Given the description of an element on the screen output the (x, y) to click on. 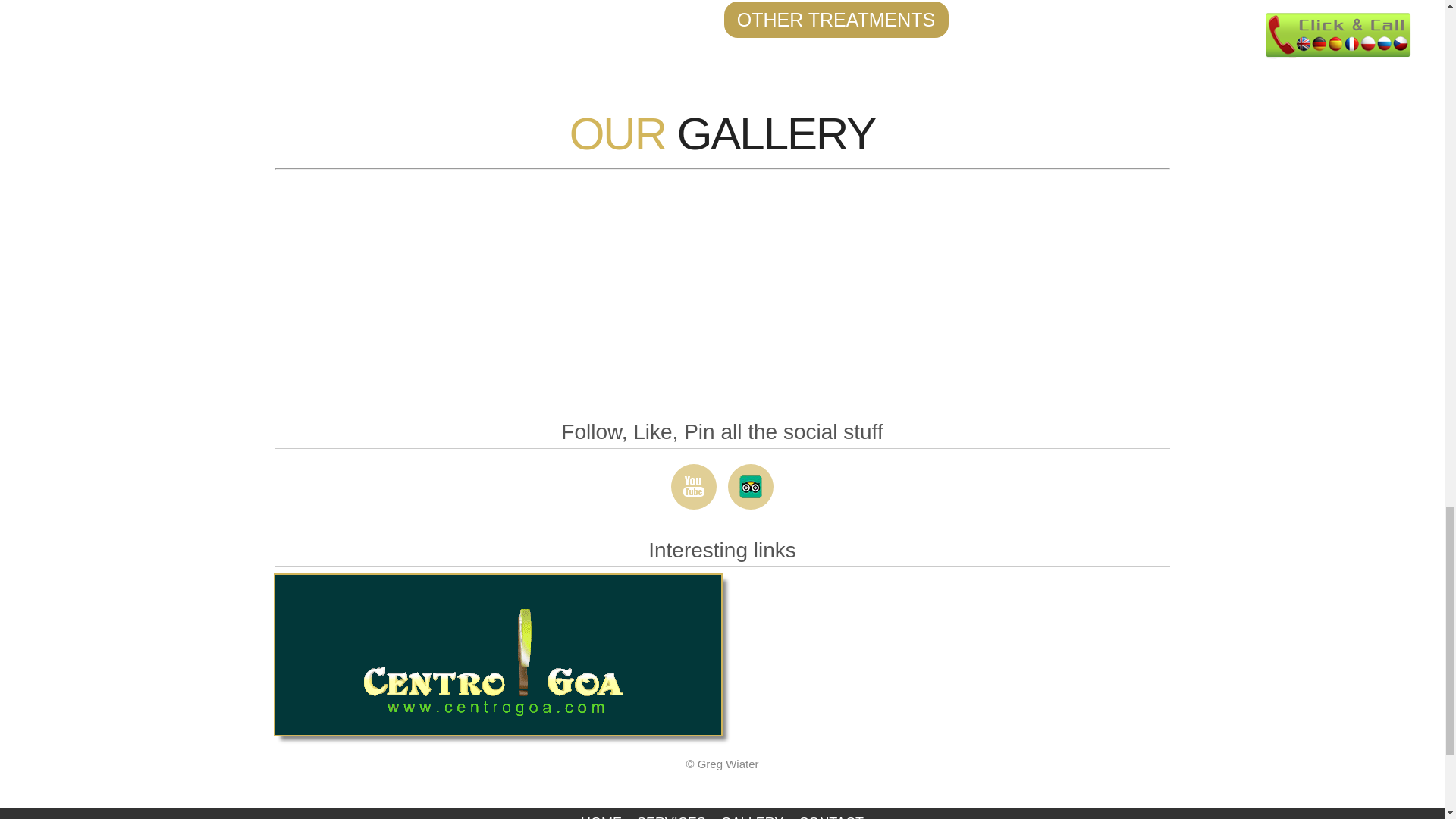
Trip Advisor (735, 481)
HOME (600, 813)
Youtube (678, 481)
SERVICES (670, 813)
CONTACT (830, 813)
OTHER TREATMENTS (835, 19)
GALLERY (752, 813)
